Given the description of an element on the screen output the (x, y) to click on. 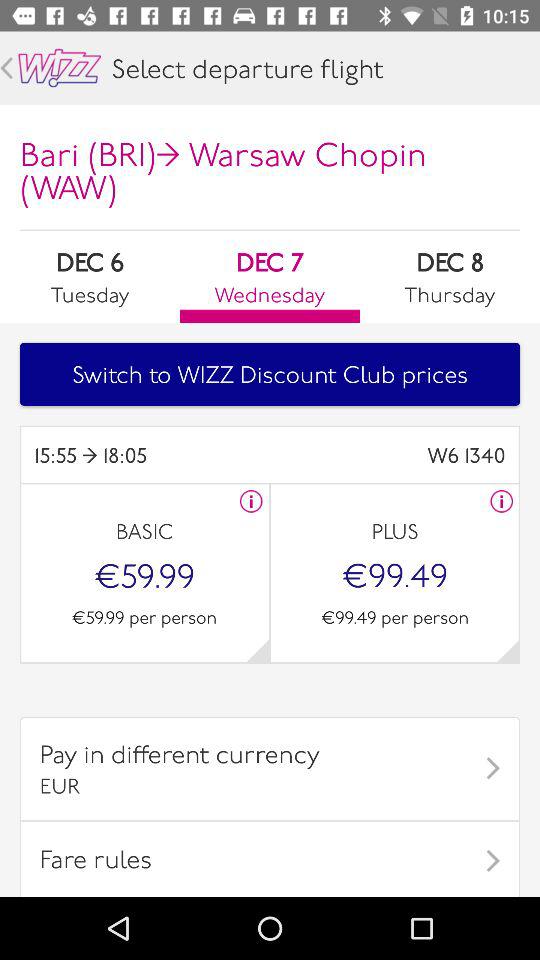
go to previous (6, 67)
